Given the description of an element on the screen output the (x, y) to click on. 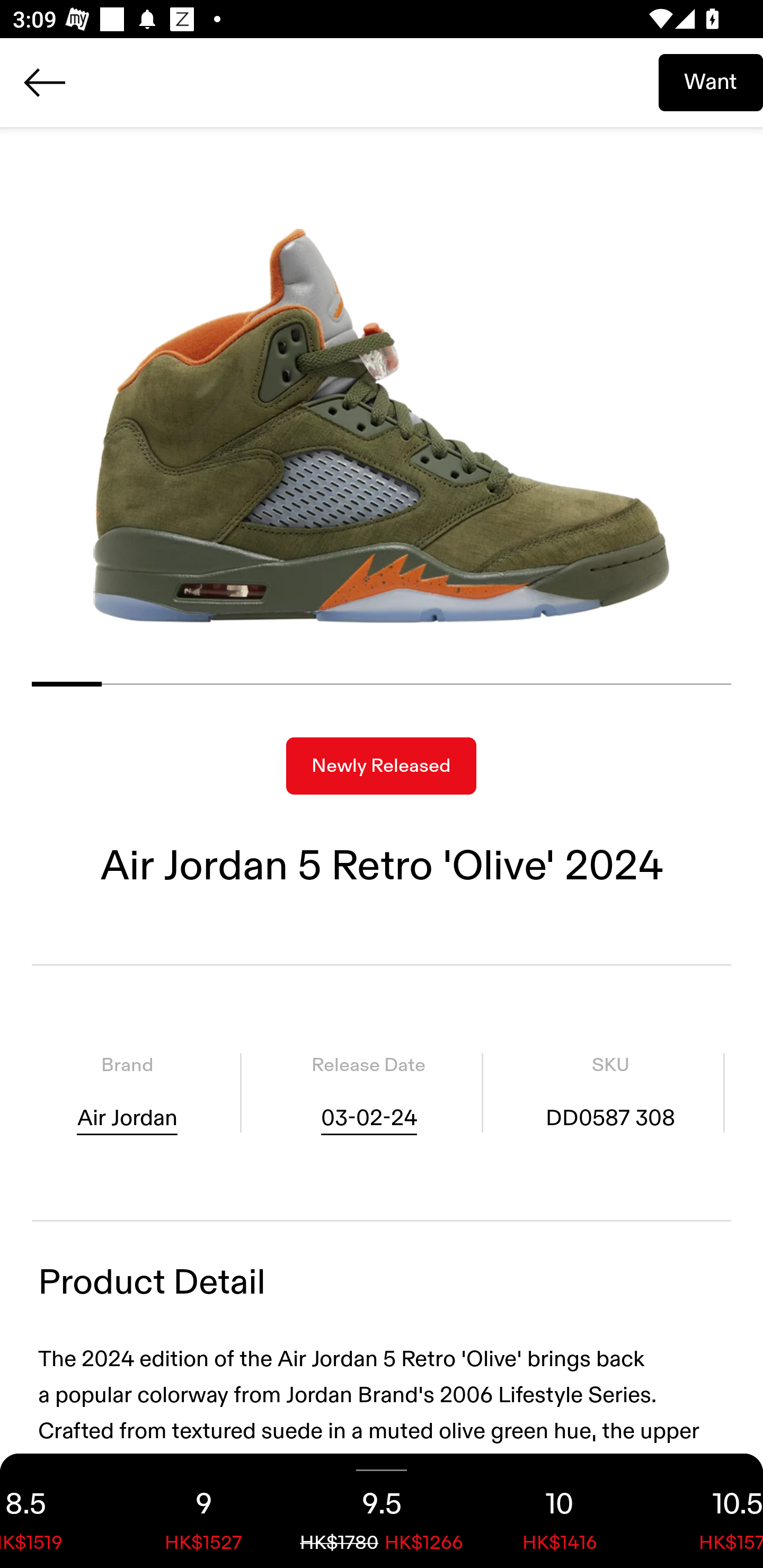
Want (710, 82)
Newly Released (381, 765)
Brand Air Jordan (126, 1092)
Release Date 03-02-24 (368, 1092)
SKU DD0587 308 (609, 1092)
8.5 HK$1519 (57, 1510)
9 HK$1527 (203, 1510)
9.5 HK$1780 HK$1266 (381, 1510)
10 HK$1416 (559, 1510)
10.5 HK$1574 (705, 1510)
